Given the description of an element on the screen output the (x, y) to click on. 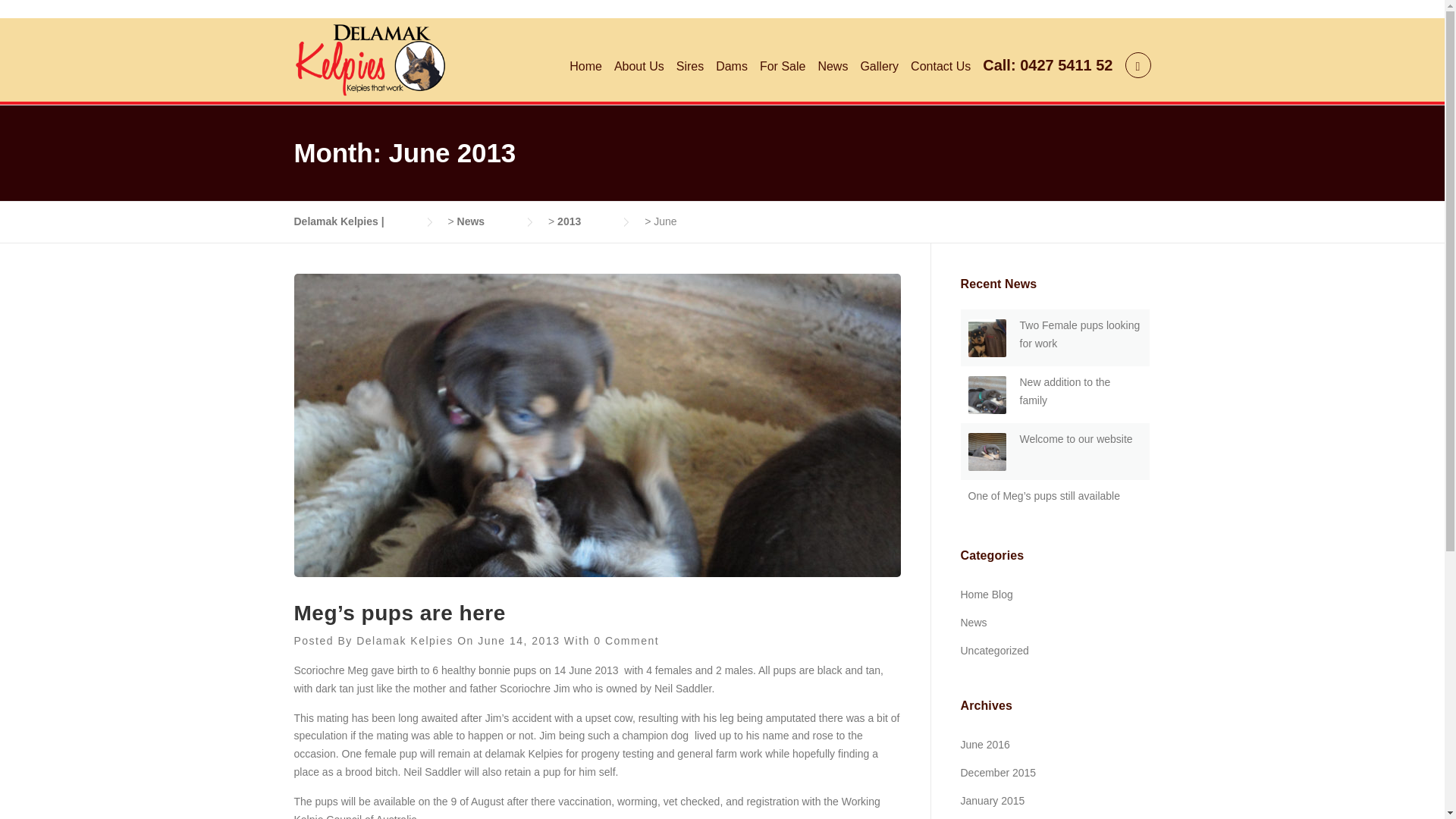
Dams (732, 66)
Two Female pups looking for work (1079, 334)
Home Blog (985, 594)
0 Comment (626, 640)
Home (585, 66)
Two Female pups looking for work (1079, 334)
About Us (638, 66)
Call: 0427 5411 52 (1047, 66)
Go to News. (486, 221)
New addition to the family (1064, 390)
